Given the description of an element on the screen output the (x, y) to click on. 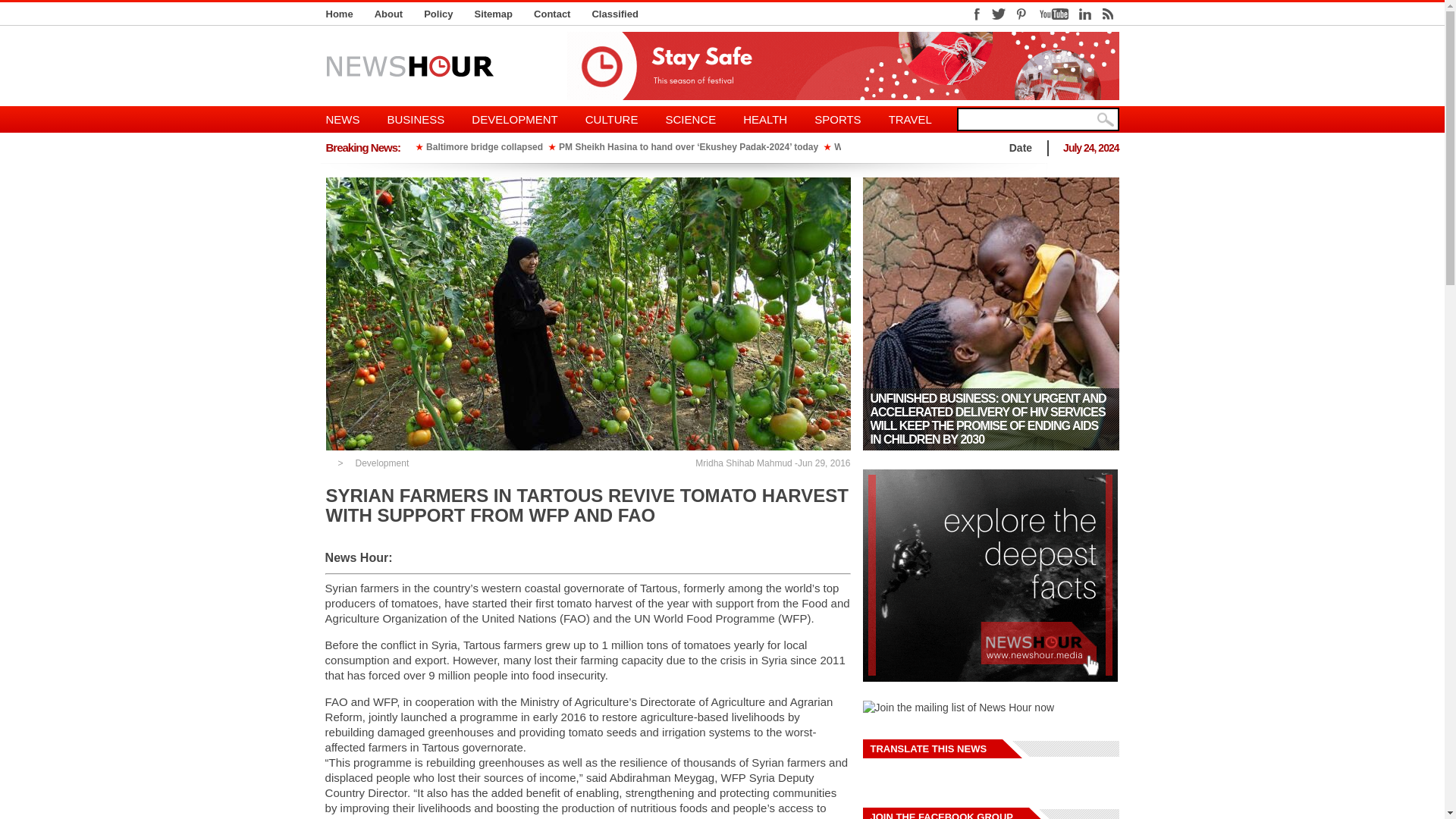
Sitemap (493, 13)
About (388, 13)
Stay safe this season of festival and read News Hour. (843, 65)
Contact (552, 13)
NEWS (350, 119)
Classified (614, 13)
Policy (437, 13)
Home (339, 13)
Business (415, 119)
News (350, 119)
